Given the description of an element on the screen output the (x, y) to click on. 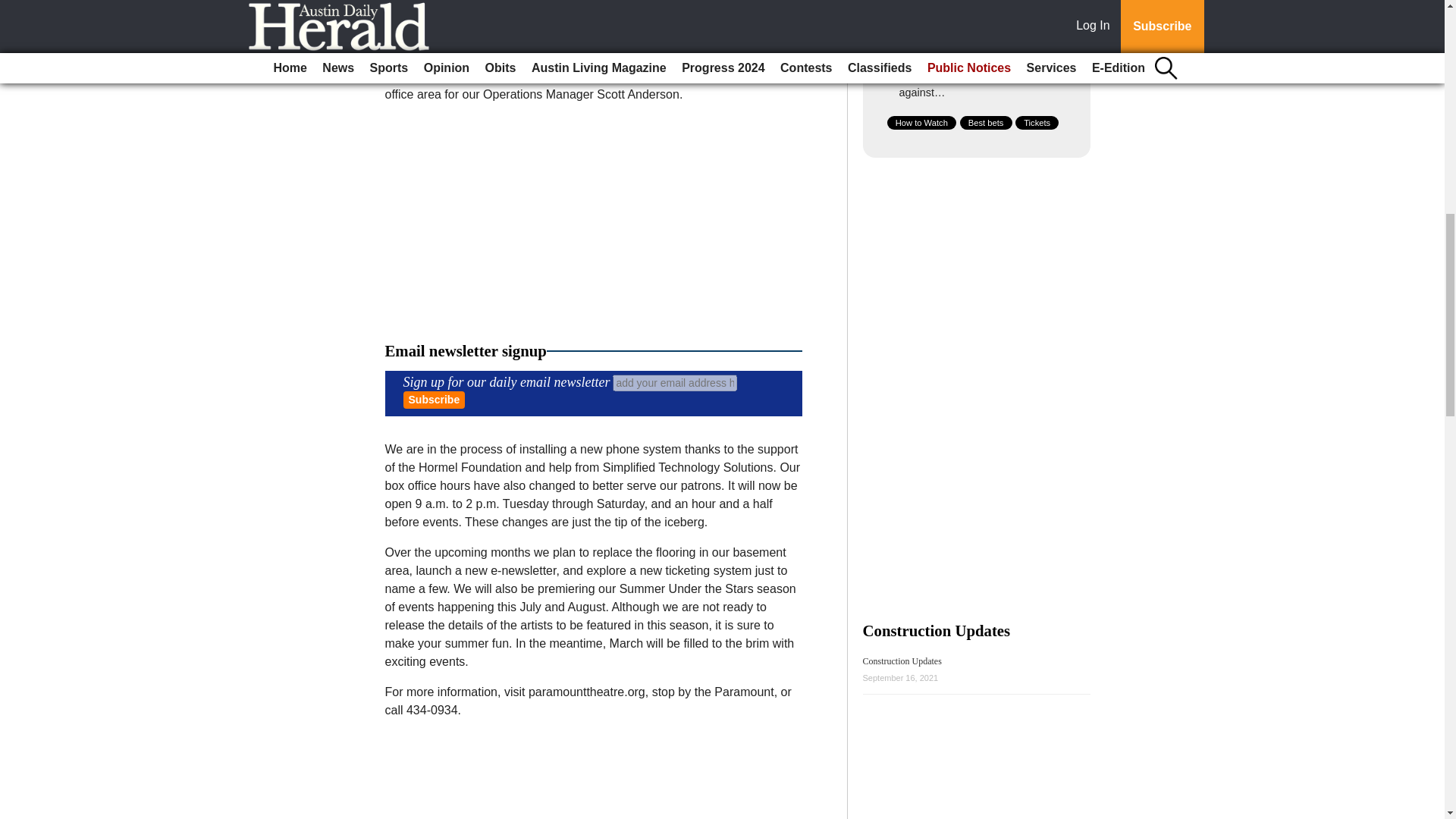
Subscribe (434, 399)
